Given the description of an element on the screen output the (x, y) to click on. 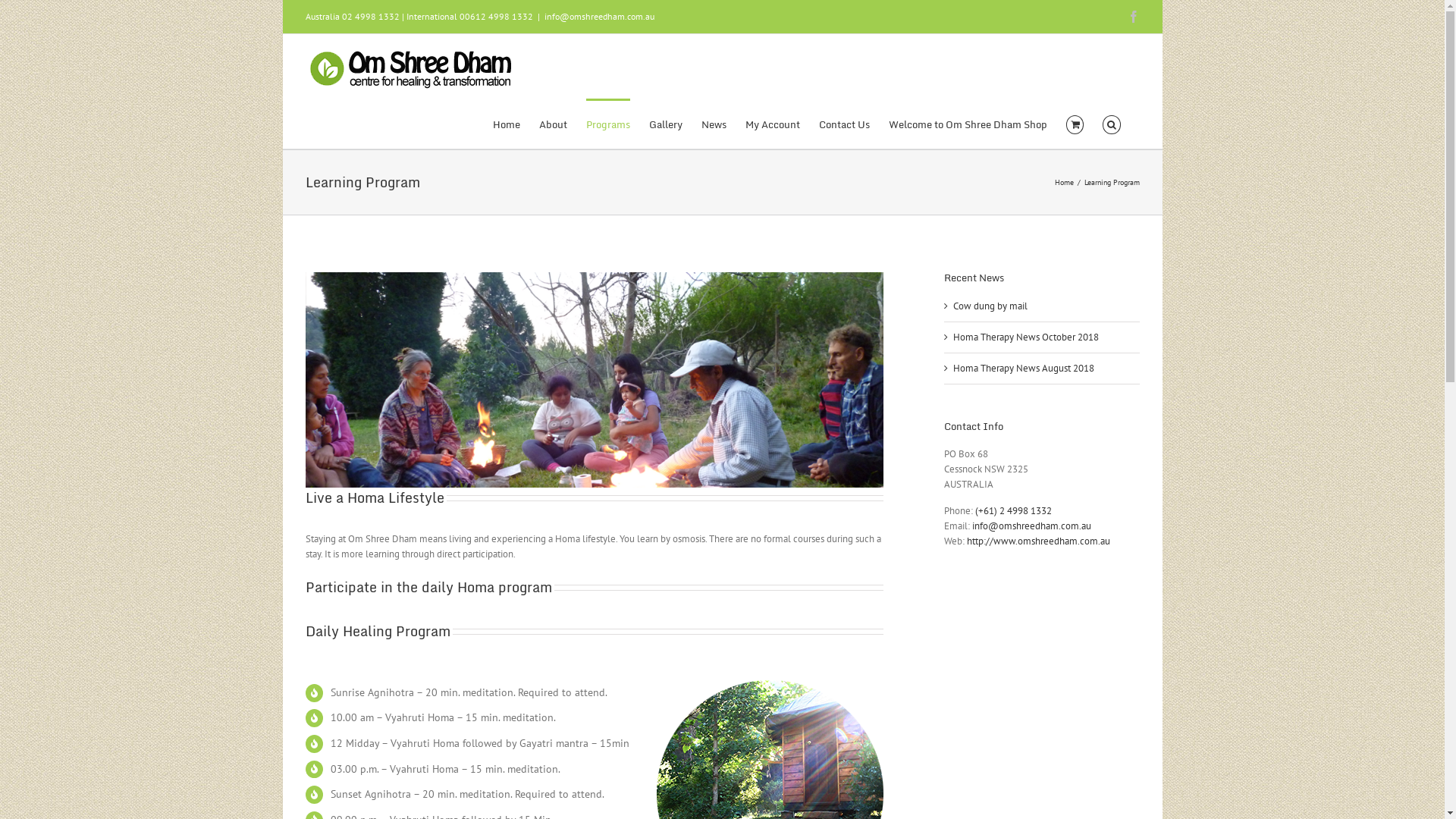
Programs Element type: text (608, 123)
Contact Us Element type: text (844, 123)
Home Element type: text (1063, 182)
Search Element type: hover (1111, 123)
Welcome to Om Shree Dham Shop Element type: text (967, 123)
info@omshreedham.com.au Element type: text (599, 15)
(+61) 2 4998 1332 Element type: text (1013, 510)
Cow dung by mail Element type: text (990, 305)
My Account Element type: text (772, 123)
info@omshreedham.com.au Element type: text (1031, 525)
Gallery Element type: text (665, 123)
Homa Therapy News October 2018 Element type: text (1025, 336)
http://www.omshreedham.com.au Element type: text (1038, 540)
Homa Therapy News August 2018 Element type: text (1023, 367)
Home Element type: text (506, 123)
Facebook Element type: text (1132, 16)
About Element type: text (553, 123)
News Element type: text (713, 123)
